Given the description of an element on the screen output the (x, y) to click on. 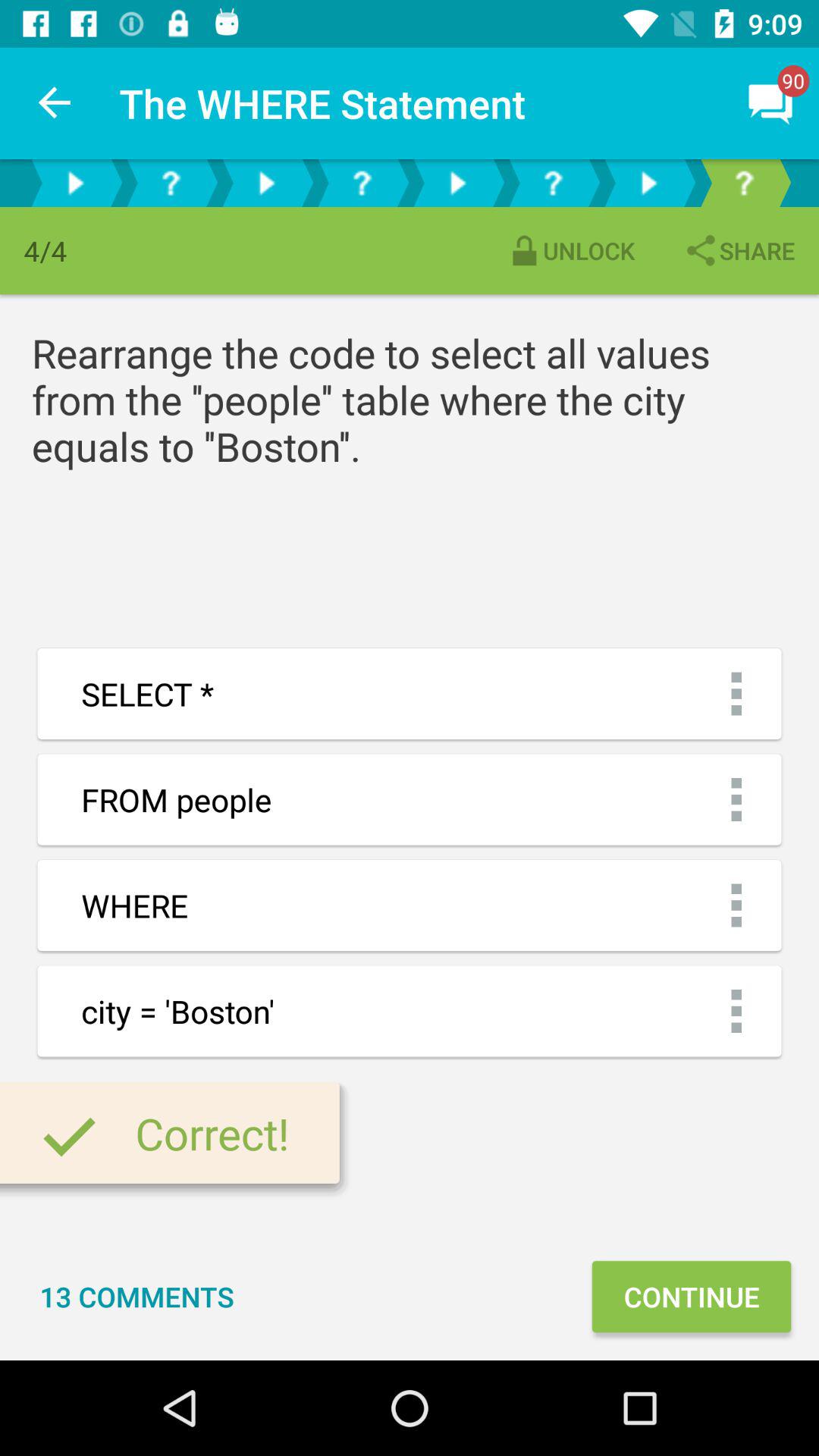
previous question option (361, 183)
